Given the description of an element on the screen output the (x, y) to click on. 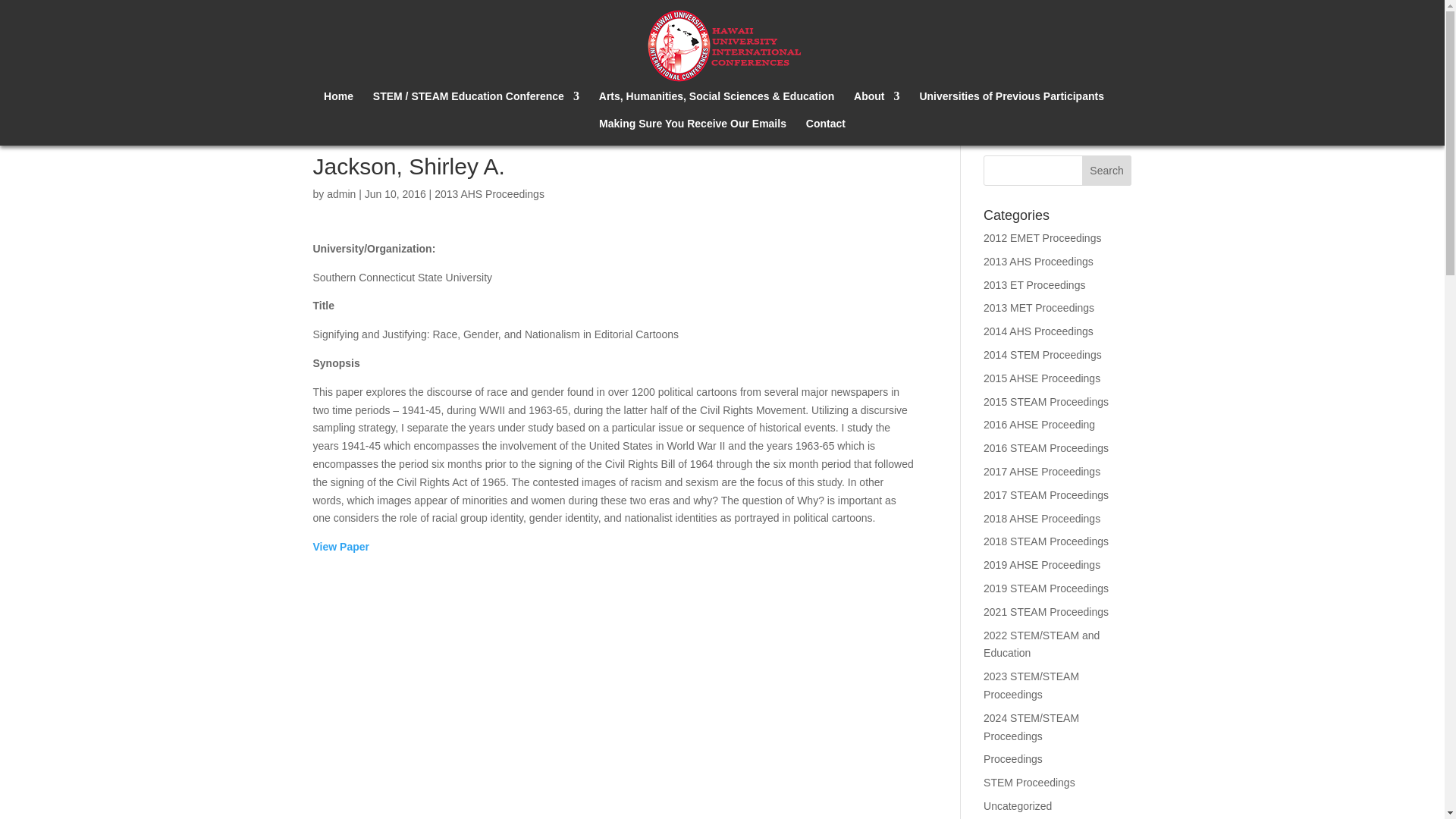
2013 MET Proceedings (1039, 307)
About (876, 103)
Search (1106, 170)
2016 STEAM Proceedings (1046, 448)
2013 AHS Proceedings (488, 193)
Universities of Previous Participants (1010, 103)
Home (338, 103)
2018 AHSE Proceedings (1042, 518)
admin (340, 193)
2015 STEAM Proceedings (1046, 401)
